Given the description of an element on the screen output the (x, y) to click on. 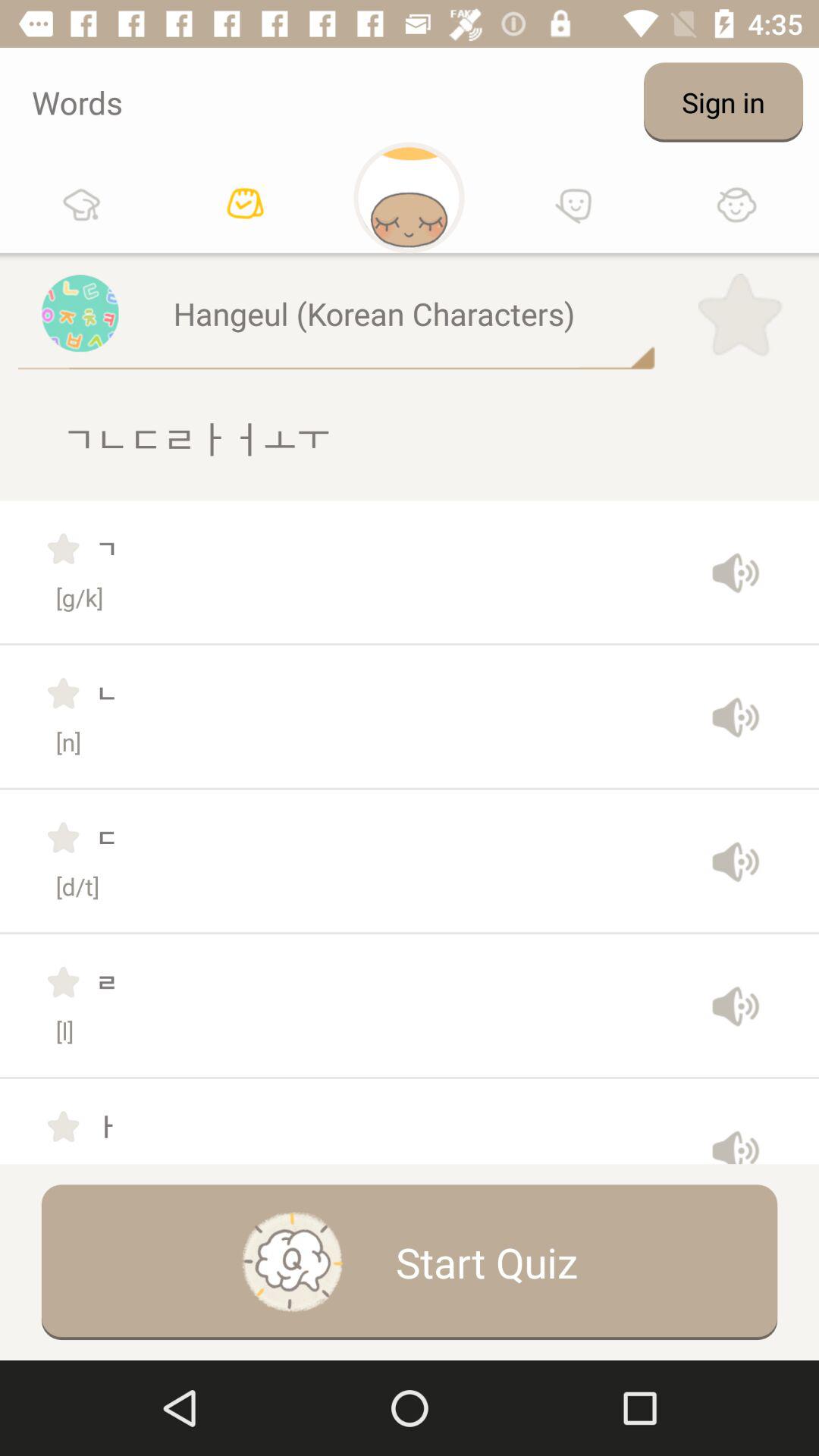
launch item to the right of the hangeul (korean characters) (740, 314)
